Given the description of an element on the screen output the (x, y) to click on. 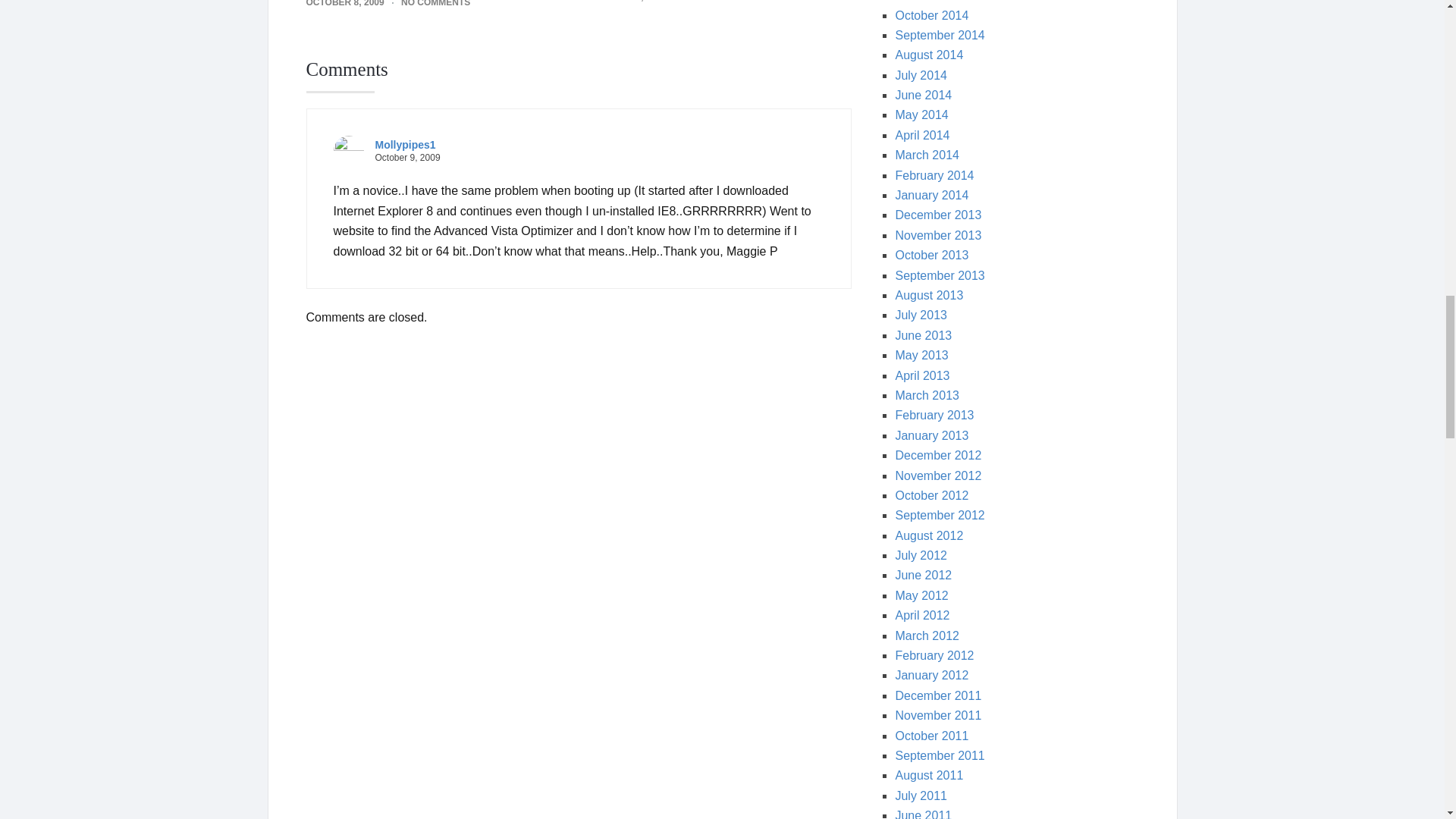
NO COMMENTS (717, 1)
NO COMMENTS (435, 3)
